Given the description of an element on the screen output the (x, y) to click on. 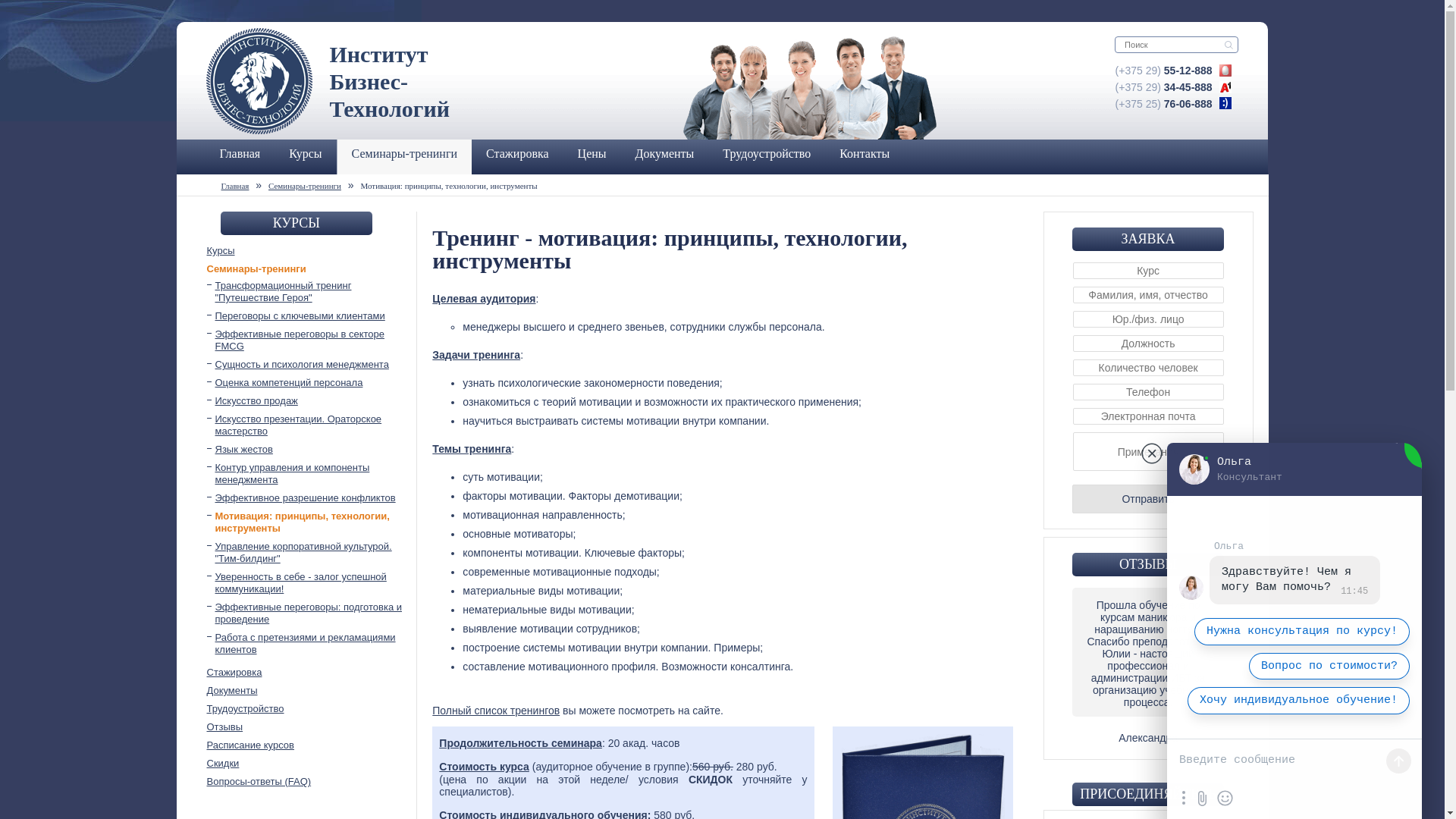
(+375 25) 76-06-888 Element type: text (1163, 103)
(+375 29) 55-12-888 Element type: text (1163, 70)
(+375 29) 34-45-888 Element type: text (1163, 87)
